Given the description of an element on the screen output the (x, y) to click on. 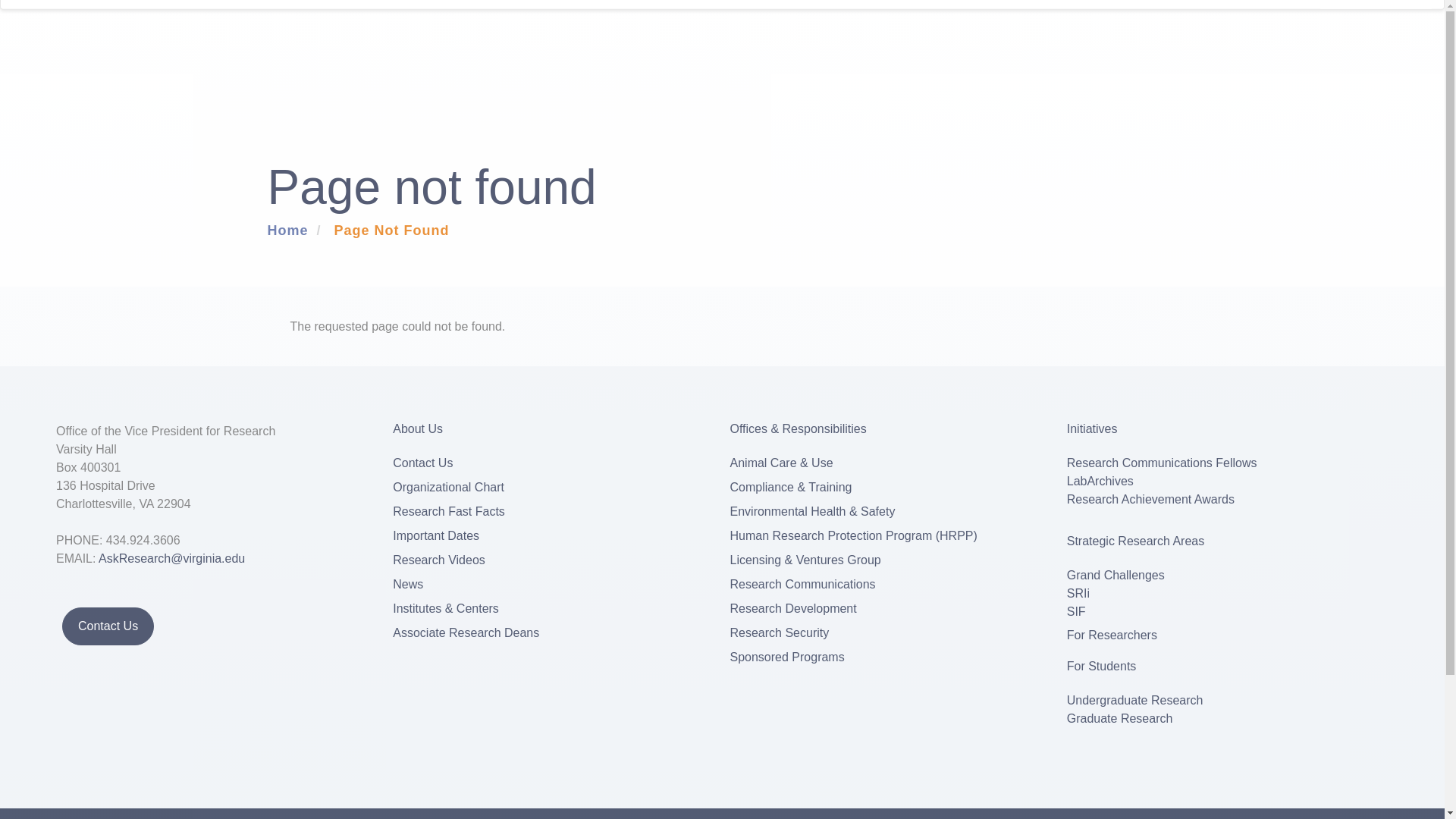
LabArchives (1100, 481)
Search (1276, 4)
